Given the description of an element on the screen output the (x, y) to click on. 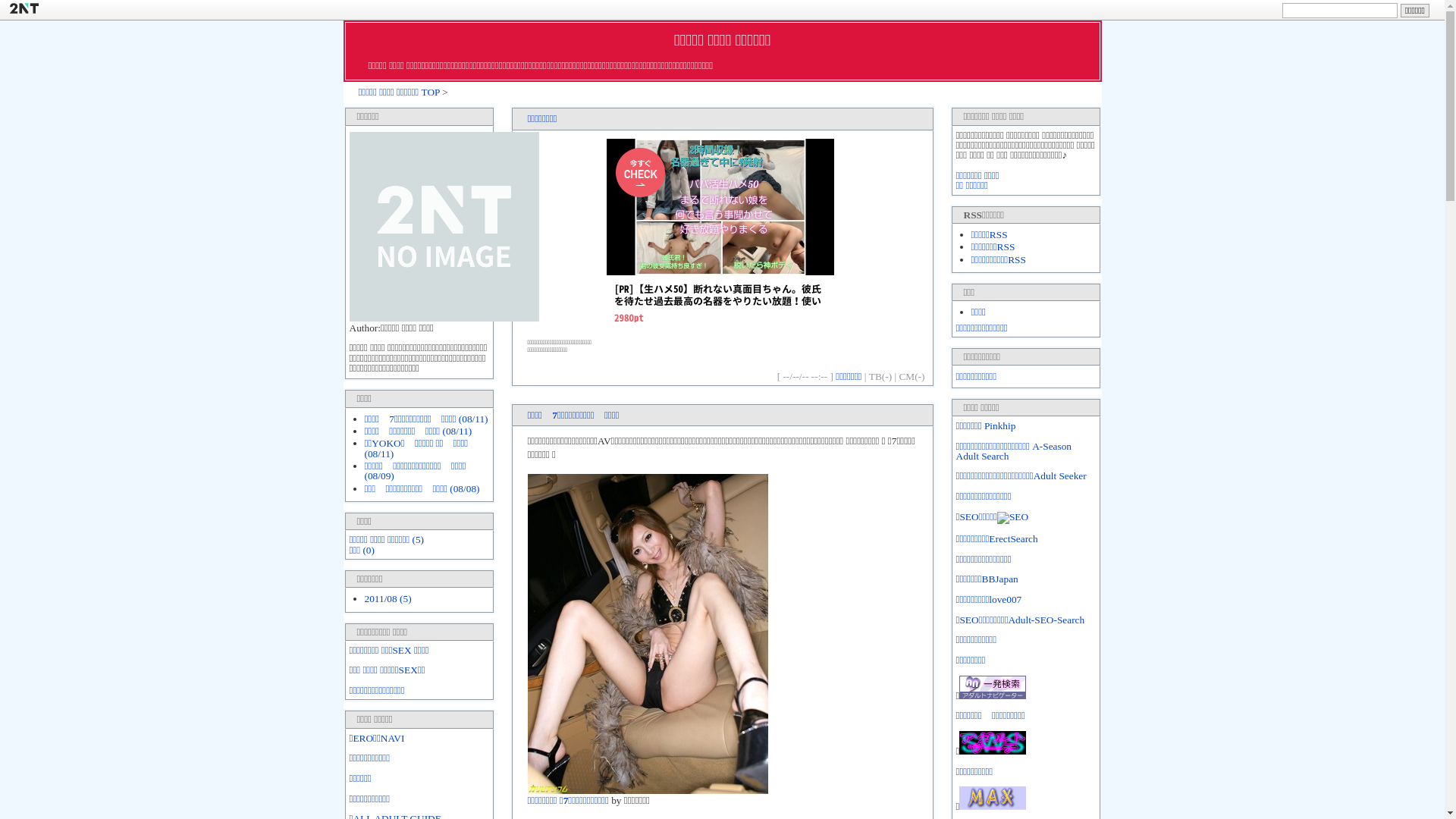
2011/08 (5) Element type: text (387, 598)
